Given the description of an element on the screen output the (x, y) to click on. 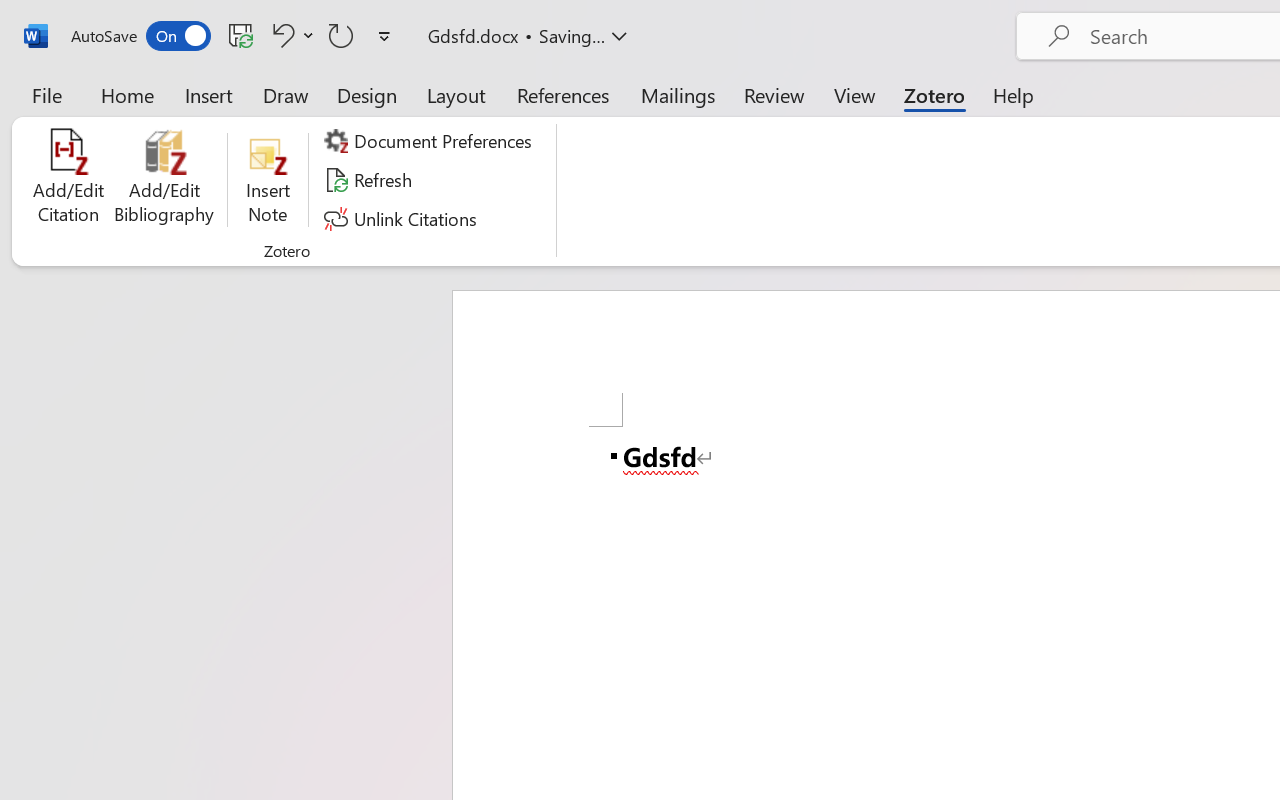
Refresh (370, 179)
Undo <ApplyStyleToDoc>b__0 (280, 35)
Unlink Citations (403, 218)
Add/Edit Bibliography (164, 179)
